Given the description of an element on the screen output the (x, y) to click on. 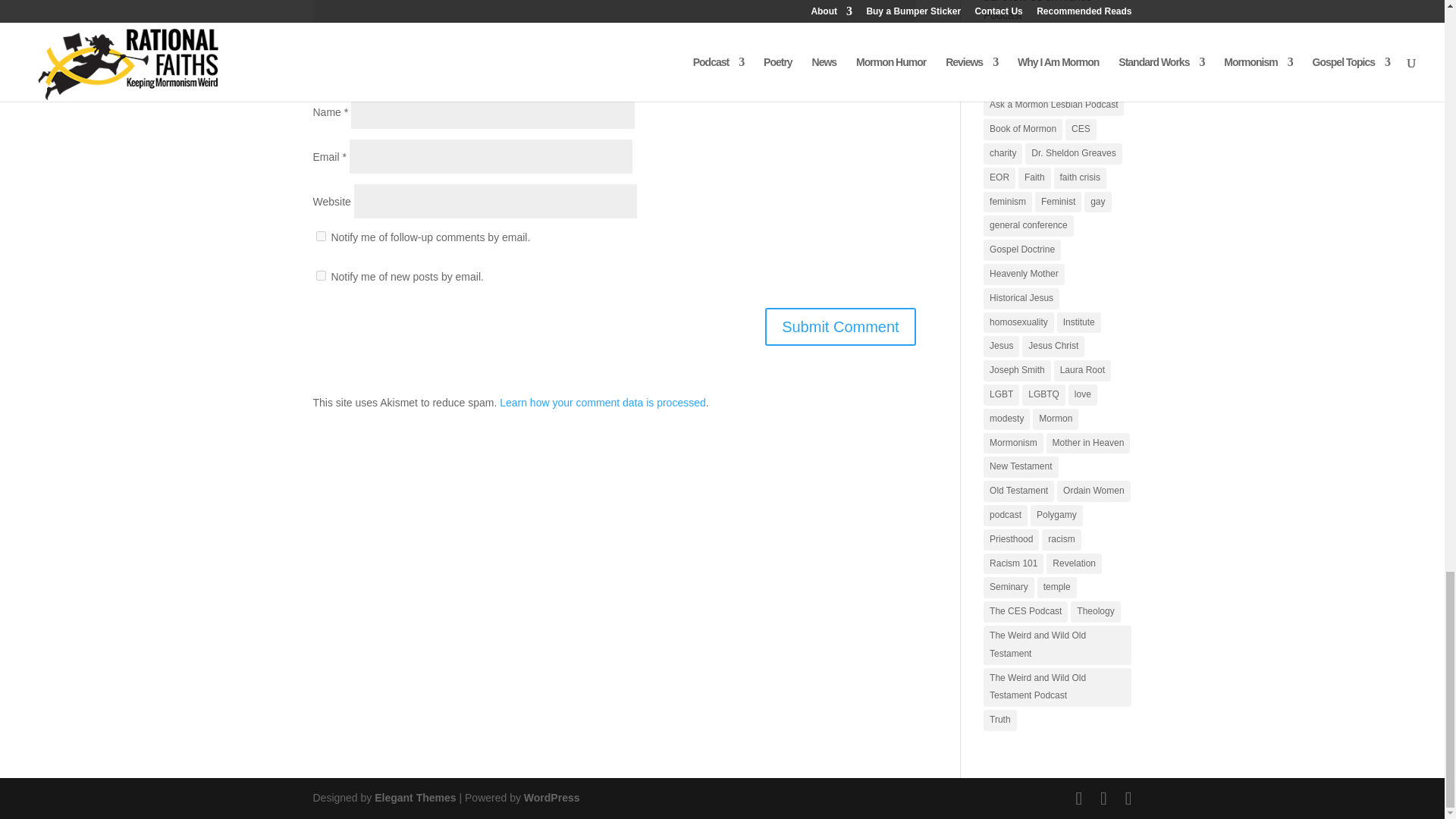
subscribe (319, 275)
Submit Comment (840, 326)
Premium WordPress Themes (414, 797)
subscribe (319, 72)
Follow Us on iTunes Podcast (1054, 12)
subscribe (319, 235)
